Given the description of an element on the screen output the (x, y) to click on. 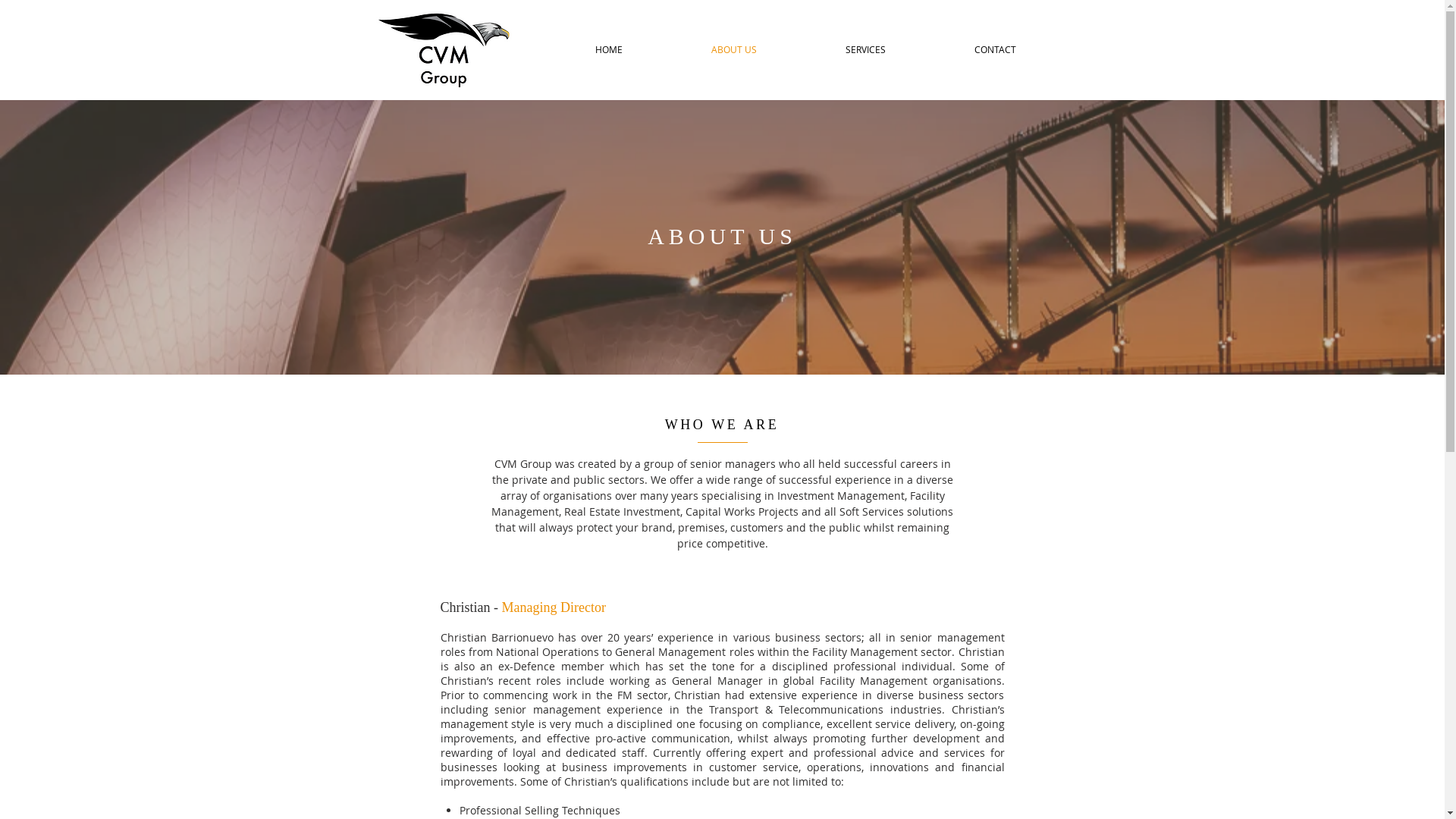
ABOUT US Element type: text (734, 49)
CONTACT Element type: text (994, 49)
HOME Element type: text (608, 49)
SERVICES Element type: text (864, 49)
